Given the description of an element on the screen output the (x, y) to click on. 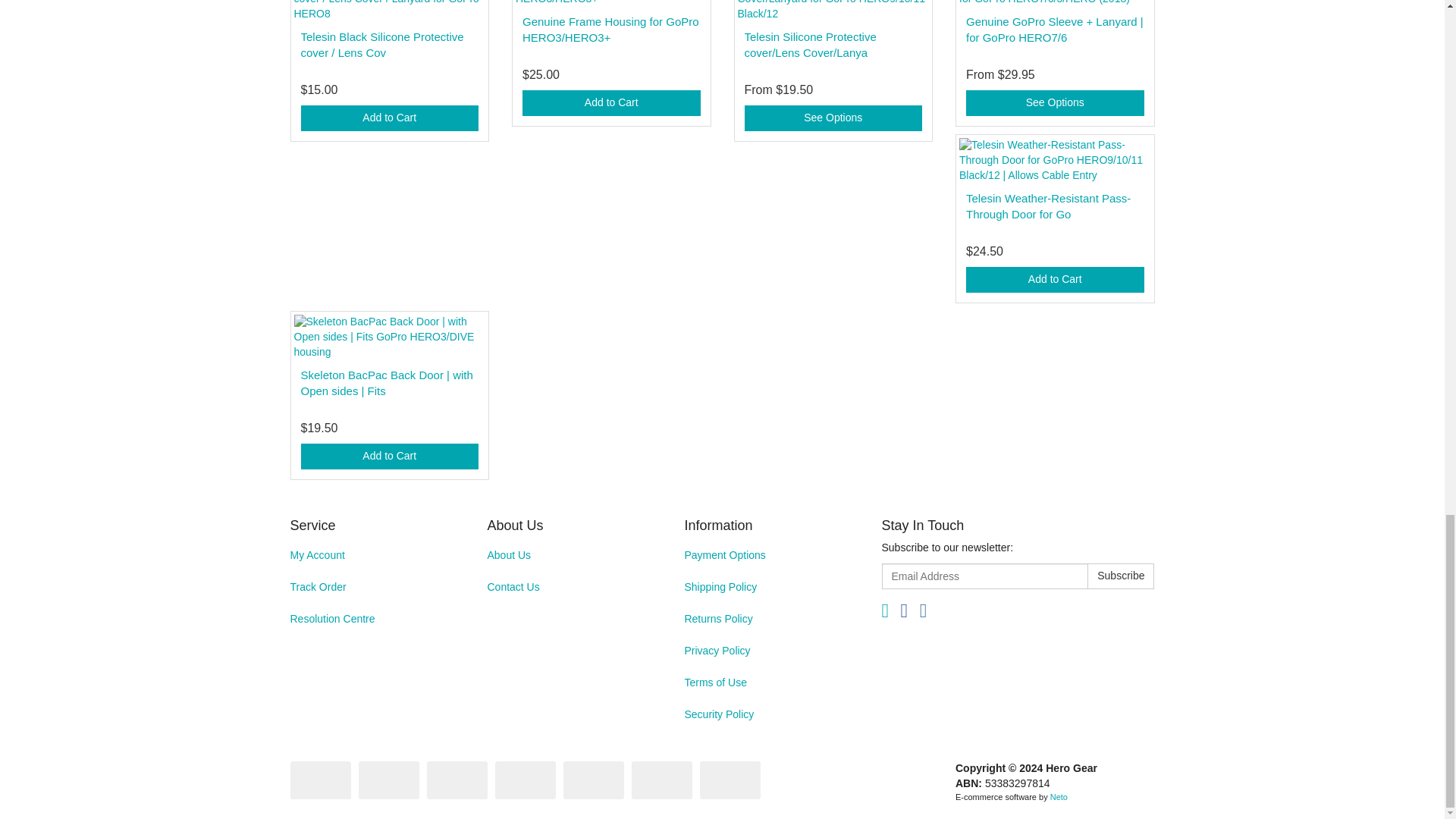
Add to Cart (611, 103)
Buying Options (833, 118)
Add to Cart (389, 118)
Subscribe (1120, 575)
